Given the description of an element on the screen output the (x, y) to click on. 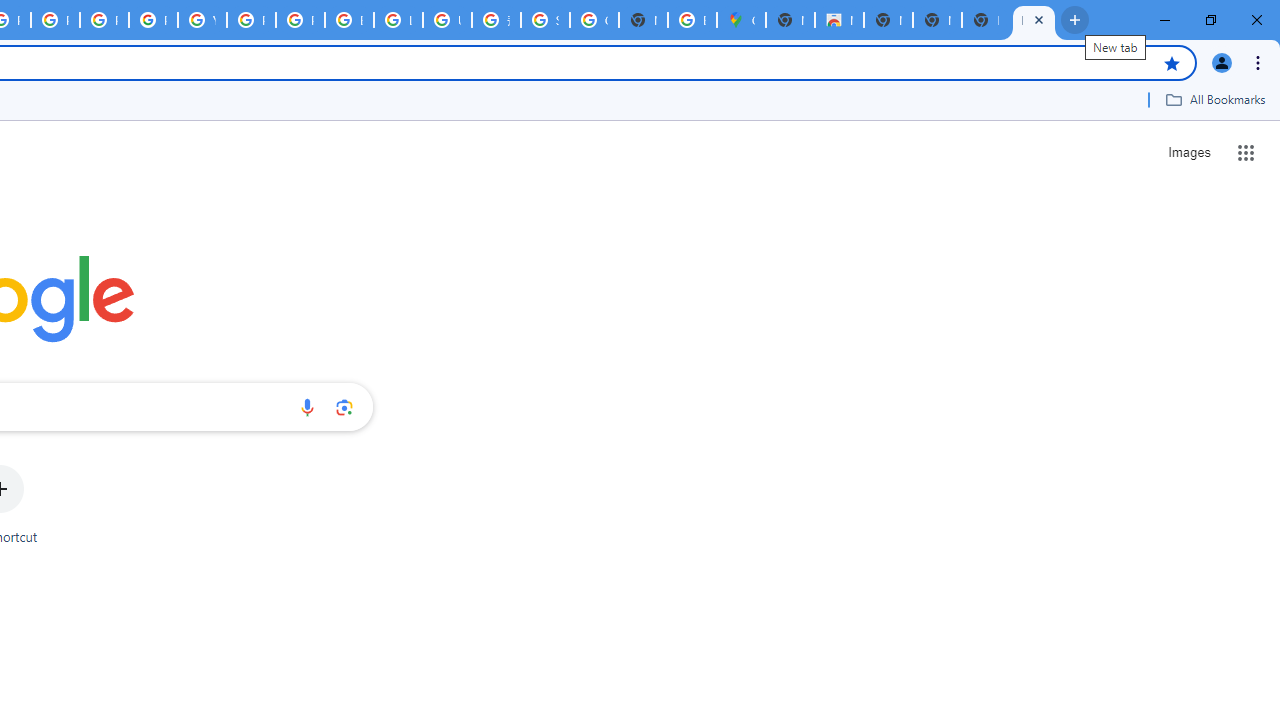
Search for Images  (1188, 152)
New Tab (1033, 20)
Privacy Help Center - Policies Help (104, 20)
Google Maps (740, 20)
